Given the description of an element on the screen output the (x, y) to click on. 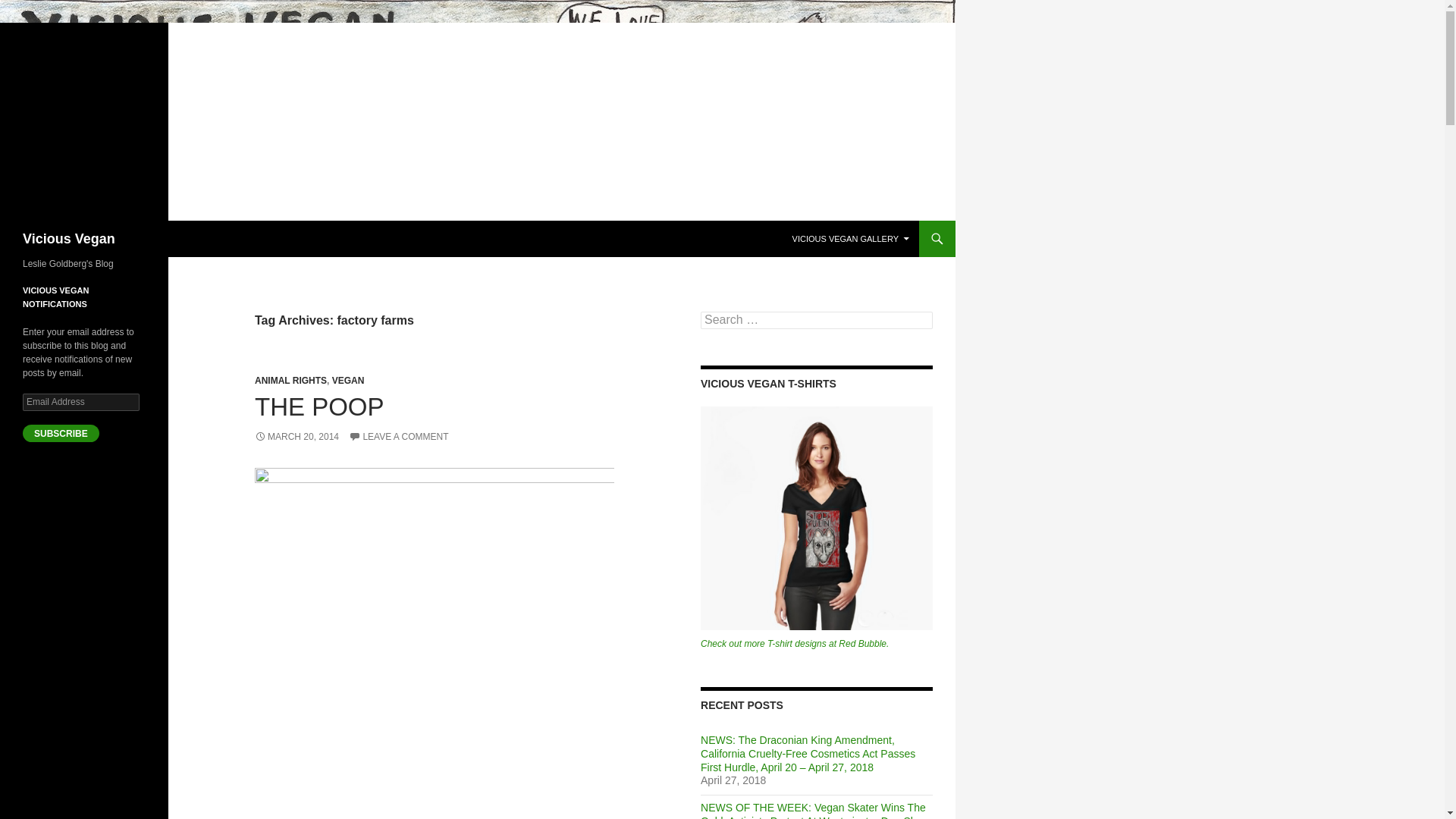
Check out more T-shirt designs at Red Bubble. (794, 643)
MARCH 20, 2014 (296, 436)
ANIMAL RIGHTS (290, 380)
Search (30, 8)
THE POOP (319, 406)
VEGAN (348, 380)
VICIOUS VEGAN GALLERY (850, 238)
Vicious Vegan (69, 238)
